Given the description of an element on the screen output the (x, y) to click on. 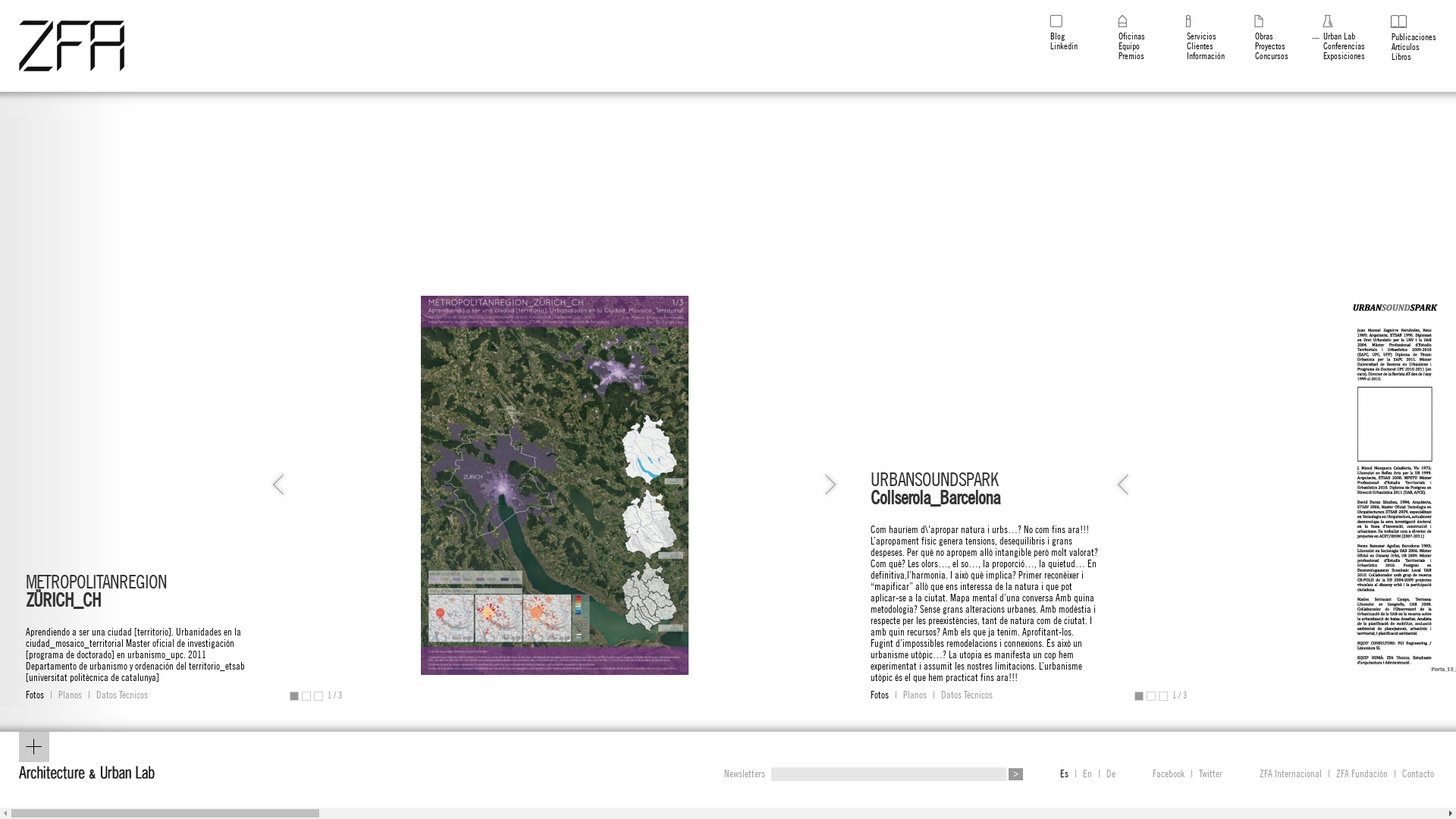
Es Element type: text (1064, 773)
Equipo Element type: text (1123, 45)
  Element type: text (1150, 695)
Fotos Element type: text (34, 694)
Blog Element type: text (1051, 36)
Libros Element type: text (1395, 56)
Planos Element type: text (69, 694)
Urban Lab Element type: text (1333, 36)
Concursos Element type: text (1265, 55)
En Element type: text (1087, 773)
Planos Element type: text (914, 694)
  Element type: text (1138, 695)
Premios Element type: text (1125, 55)
  Element type: text (318, 695)
Publicaciones Element type: text (1408, 36)
  Element type: text (293, 695)
Facebook Element type: text (1168, 773)
ZFA Internacional Element type: text (1290, 773)
Clientes Element type: text (1194, 45)
  Element type: text (1162, 695)
> Element type: text (1015, 774)
Contacto Element type: text (1418, 773)
Conferencias Element type: text (1338, 45)
De Element type: text (1110, 773)
Oficinas Element type: text (1126, 36)
Obras Element type: text (1258, 36)
Fotos Element type: text (879, 694)
Linkedin Element type: text (1057, 45)
Exposiciones Element type: text (1338, 55)
Proyectos Element type: text (1264, 45)
  Element type: text (305, 695)
Twitter Element type: text (1210, 773)
Servicios Element type: text (1195, 36)
